Given the description of an element on the screen output the (x, y) to click on. 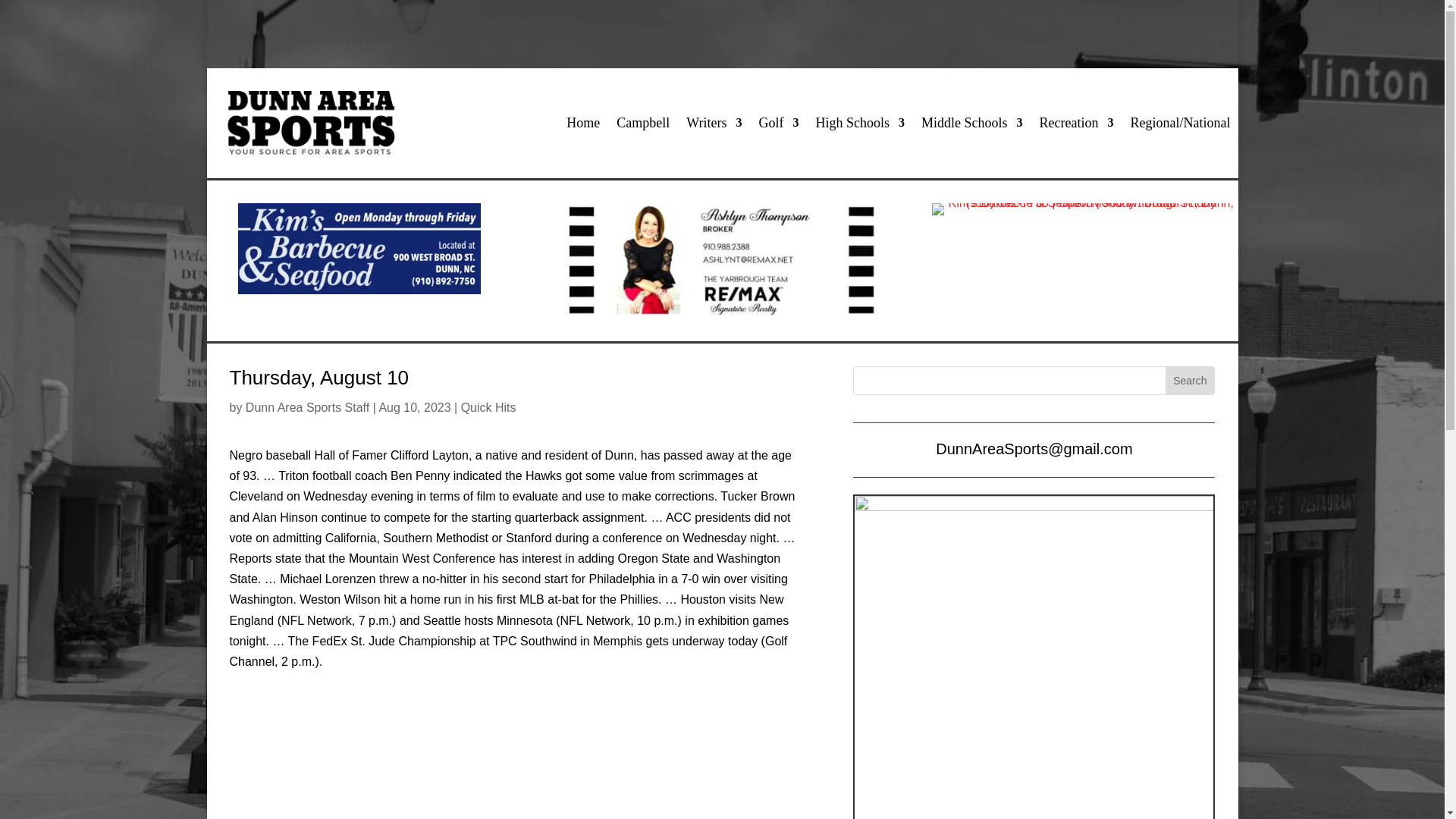
Search (1190, 379)
Posts by Dunn Area Sports Staff (307, 407)
Middle Schools (972, 122)
Recreation (1076, 122)
High Schools (860, 122)
Kim's Barbecue Ad (359, 248)
Ashlyn Thompson (722, 260)
Search (1190, 379)
Dunn Area Sports Map (1033, 657)
